Given the description of an element on the screen output the (x, y) to click on. 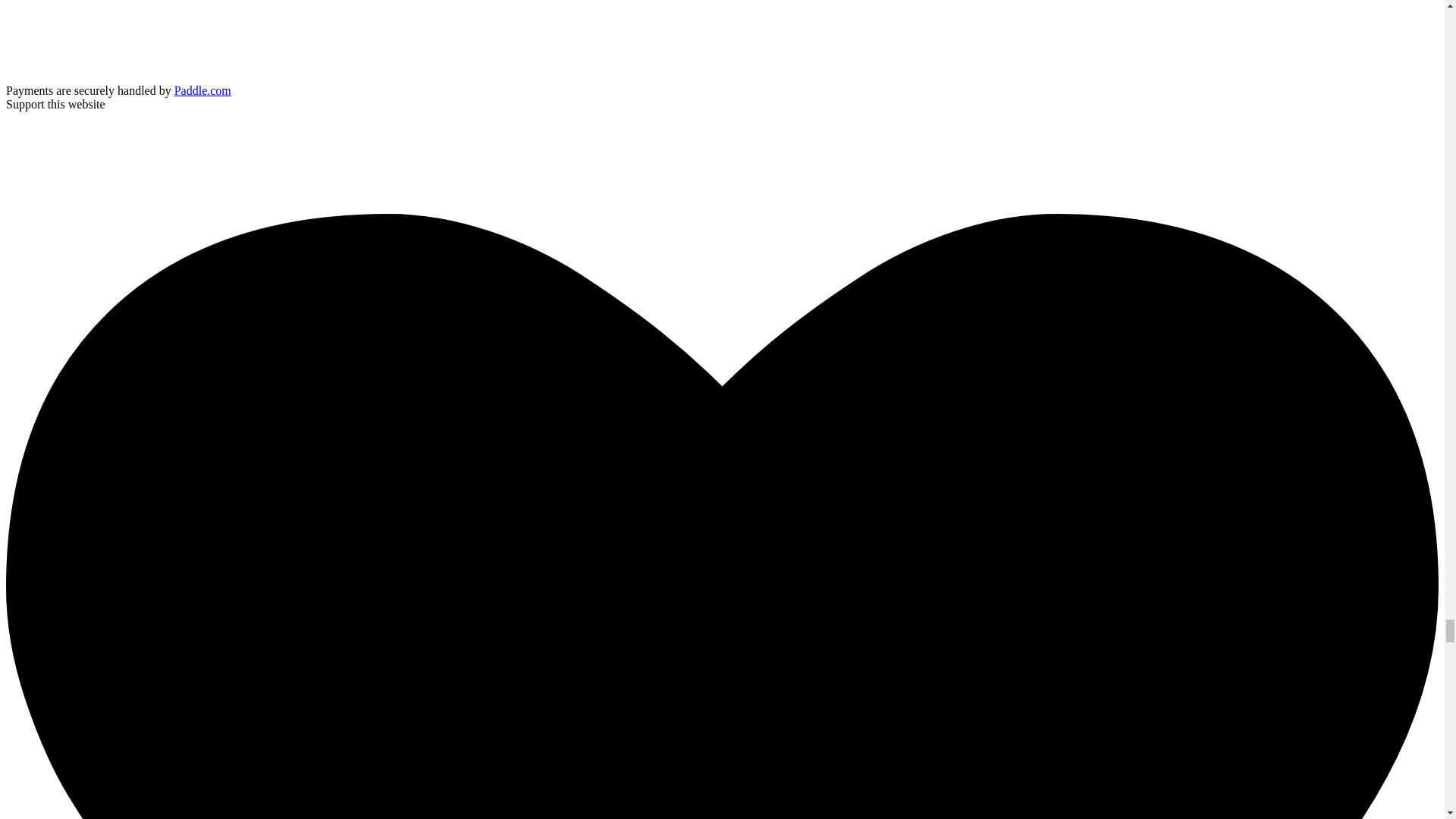
Paddle.com (202, 90)
